Given the description of an element on the screen output the (x, y) to click on. 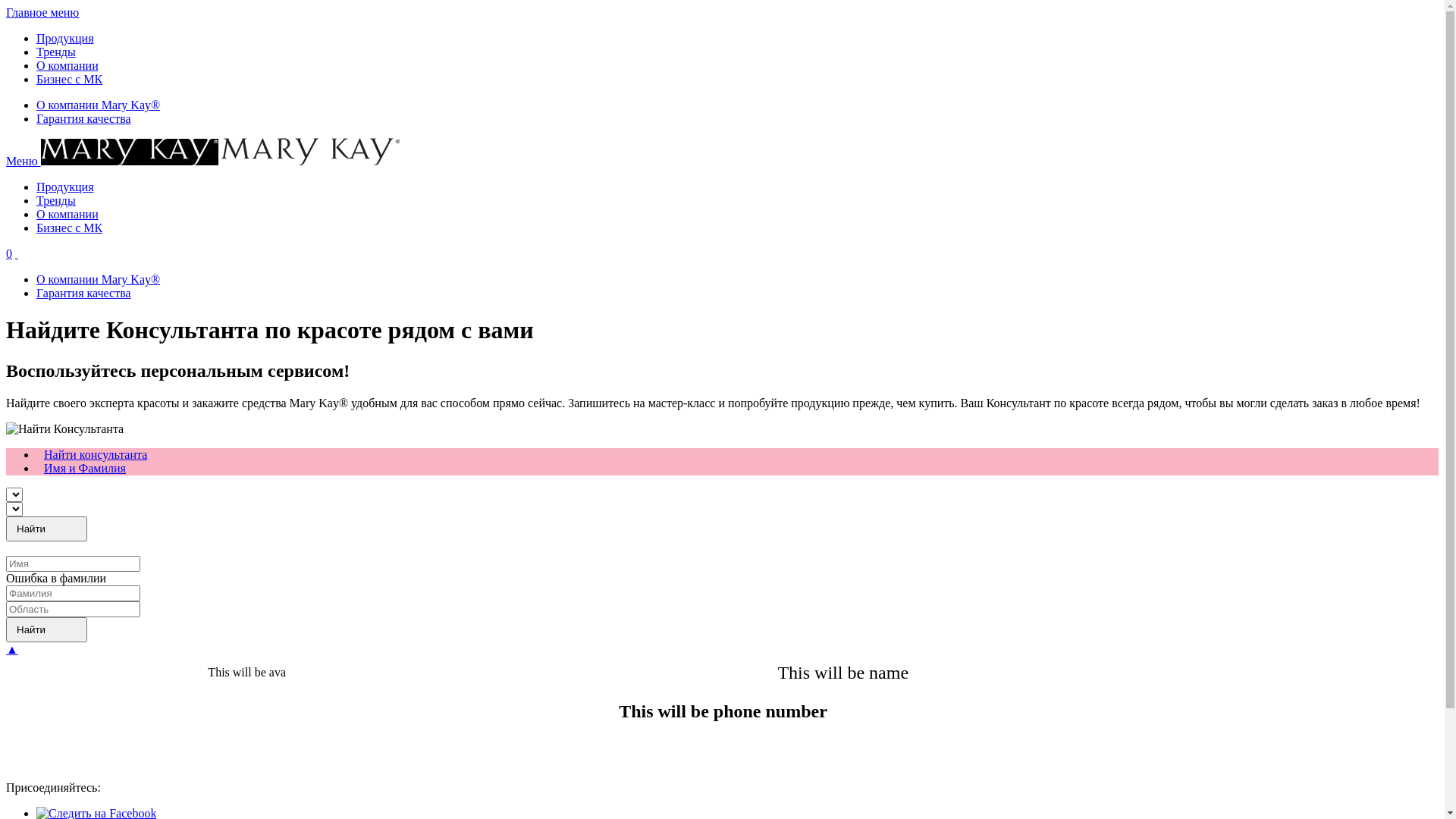
  Element type: text (16, 253)
0 Element type: text (9, 253)
